Given the description of an element on the screen output the (x, y) to click on. 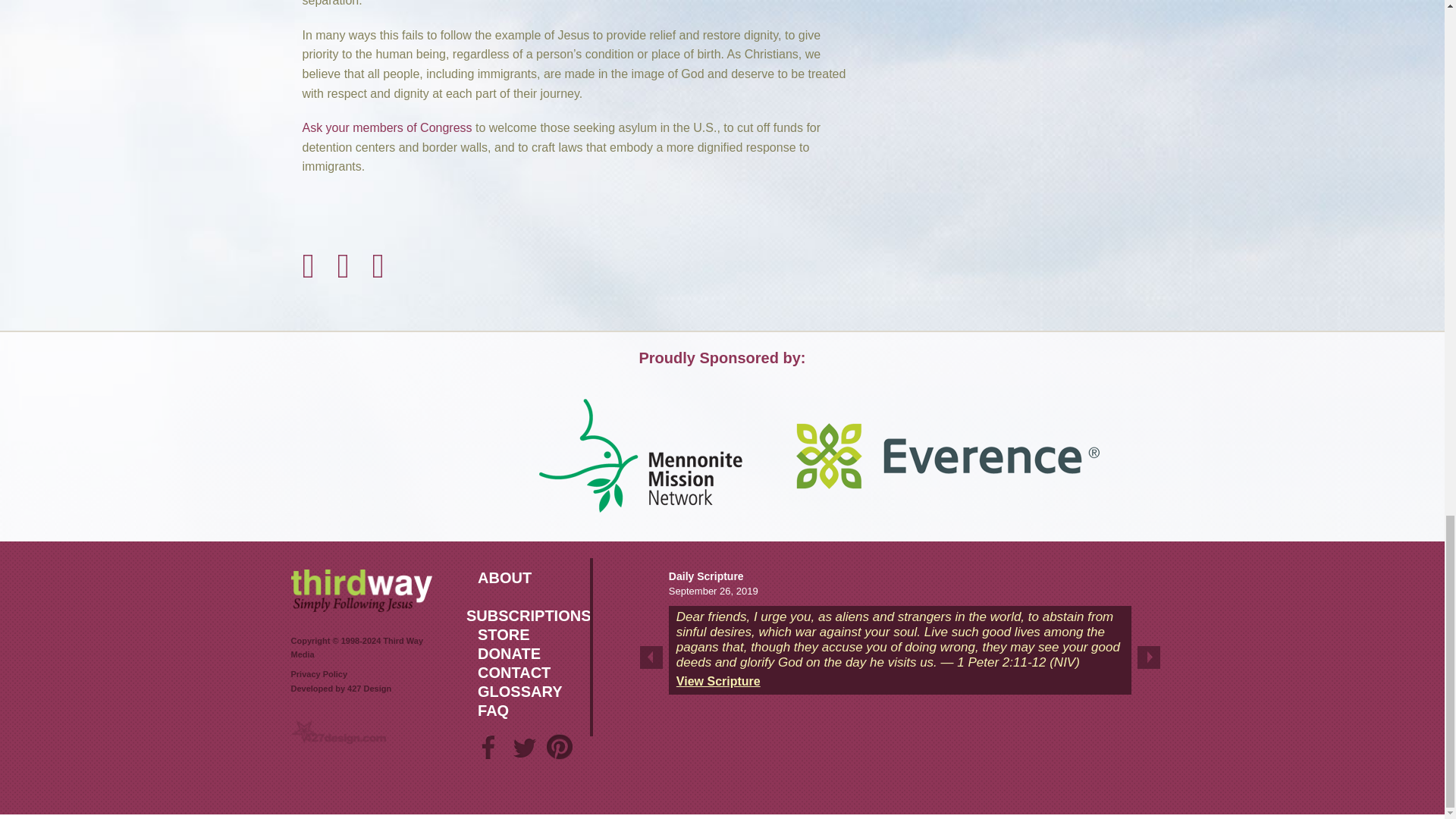
Ask your members of Congress (386, 127)
Share on Twitter (342, 232)
Share on Facebook (307, 232)
